Given the description of an element on the screen output the (x, y) to click on. 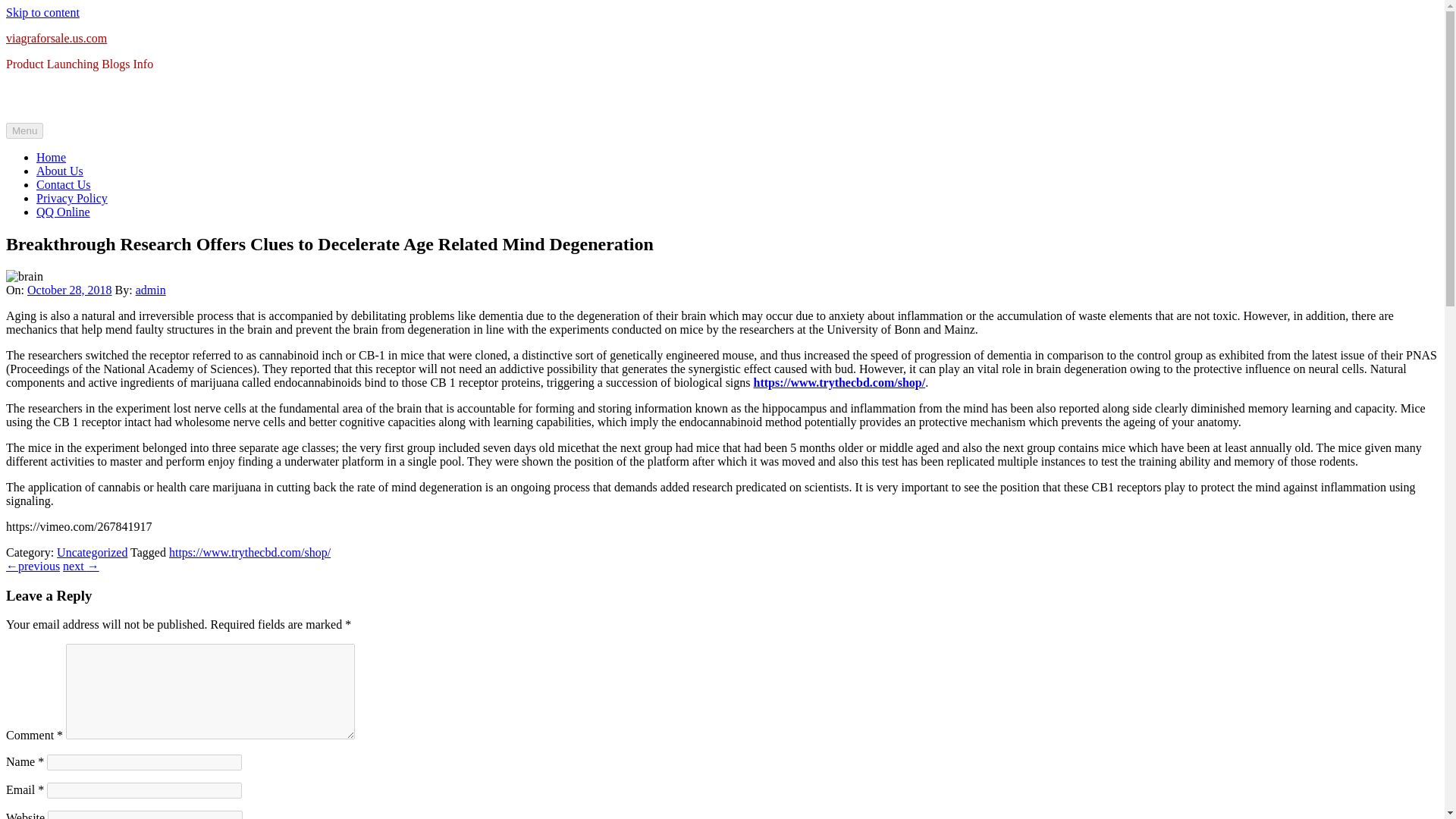
Uncategorized (92, 552)
October 28, 2018 (69, 289)
Menu (24, 130)
Contact Us (63, 184)
QQ Online (63, 211)
Home (50, 156)
Privacy Policy (71, 197)
admin (150, 289)
Skip to content (42, 11)
viagraforsale.us.com (55, 38)
